Given the description of an element on the screen output the (x, y) to click on. 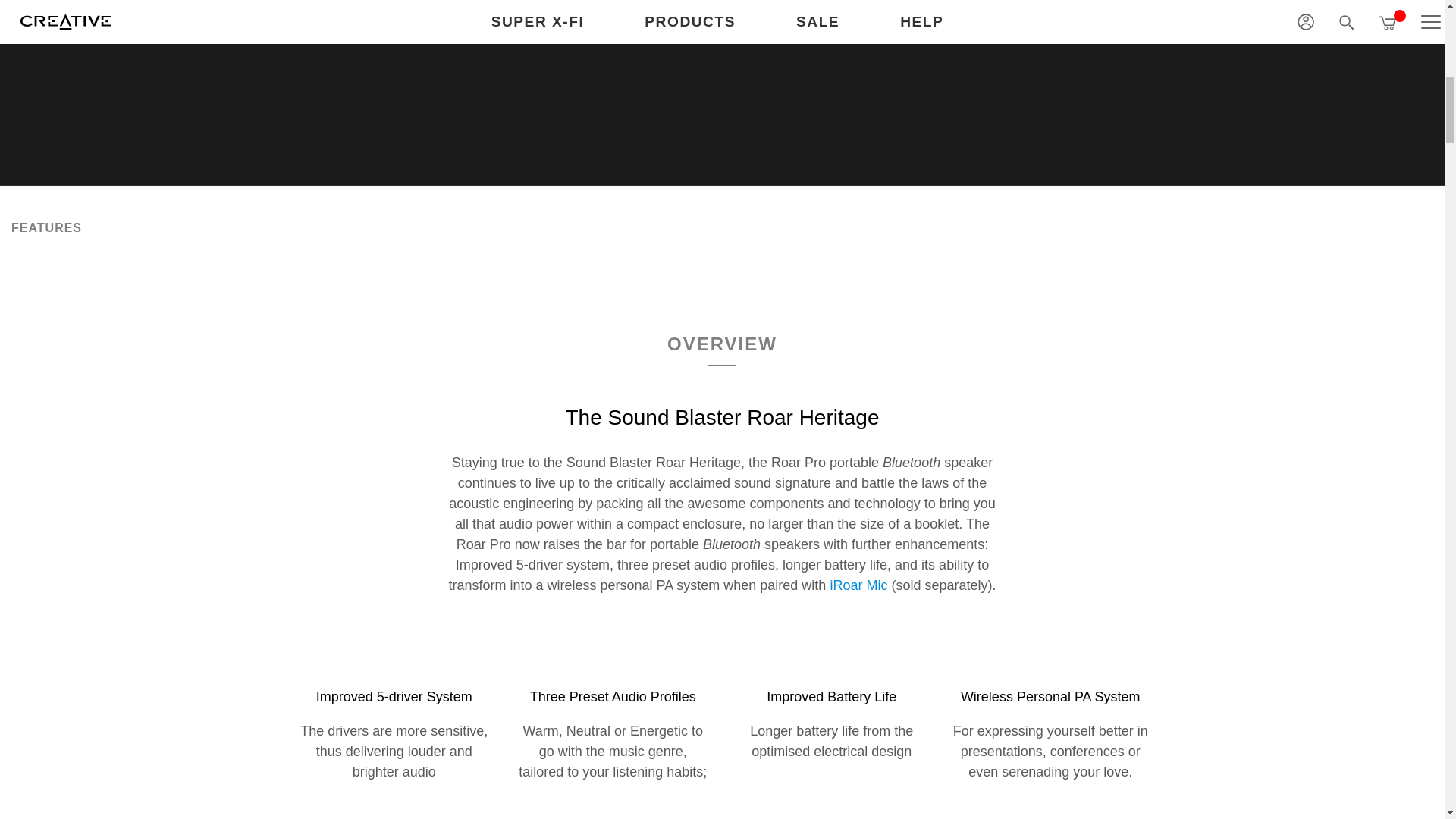
iRoar Mic (857, 585)
Three Preset Audio Profiles (613, 680)
Improved 5-driver System (393, 680)
Improved Battery Life (831, 680)
Wireless Personal PA System (1050, 680)
